Given the description of an element on the screen output the (x, y) to click on. 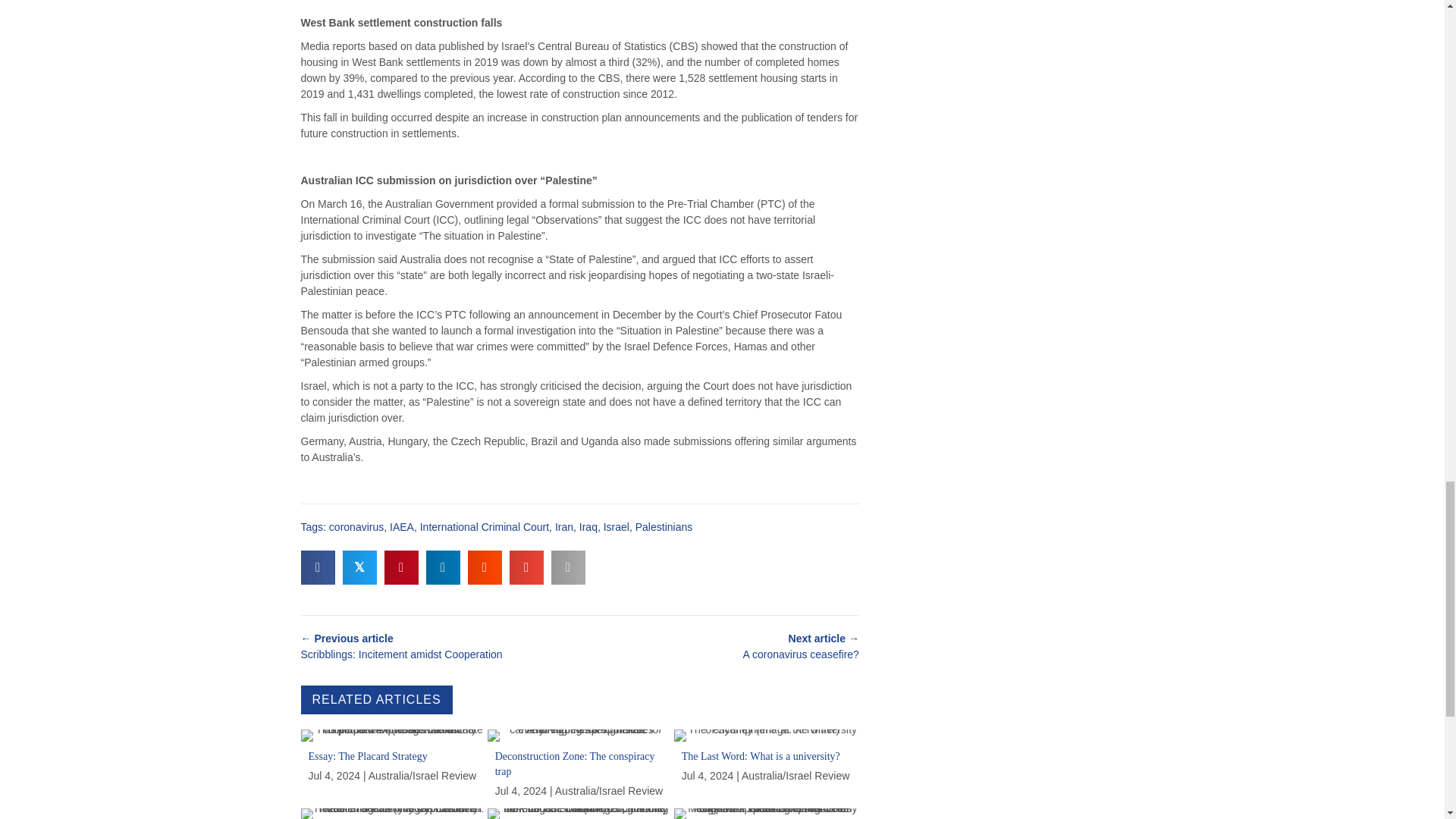
GMsFDZDagAAQKns Tw (766, 735)
Essay: The Placard Strategy (391, 767)
The Last Word: What is a university? (766, 767)
Deconstruction Zone: The conspiracy trap (579, 767)
6a0a3423 59b9 4056 806a D0de20dba2cb 899x899 (579, 735)
